Given the description of an element on the screen output the (x, y) to click on. 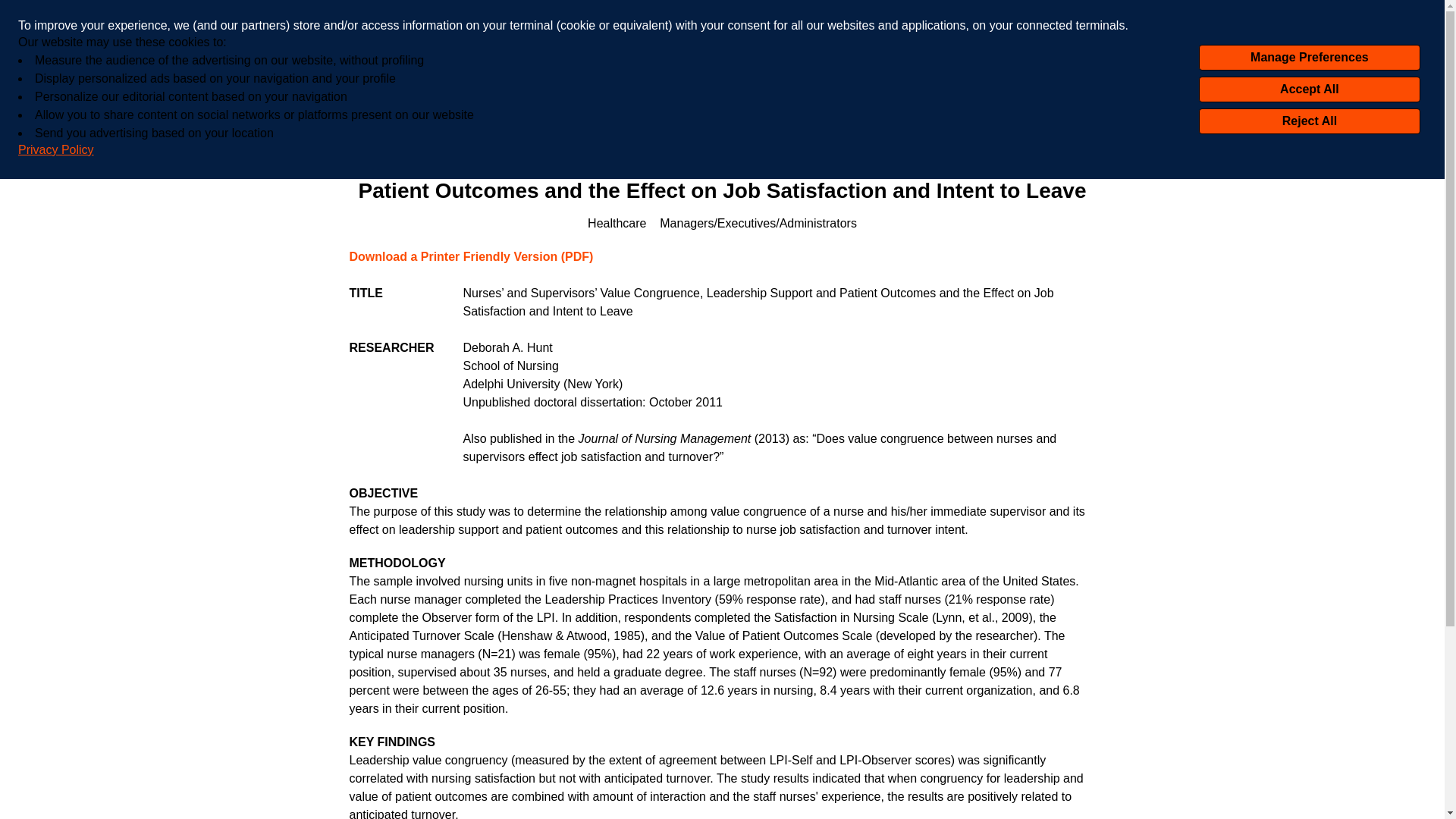
Shop (1129, 133)
Register Today! (855, 16)
Research (355, 132)
Events (491, 132)
Search (1179, 85)
Training (428, 132)
Events (491, 132)
Training (428, 132)
Try for Free (978, 133)
Search (1179, 85)
